Given the description of an element on the screen output the (x, y) to click on. 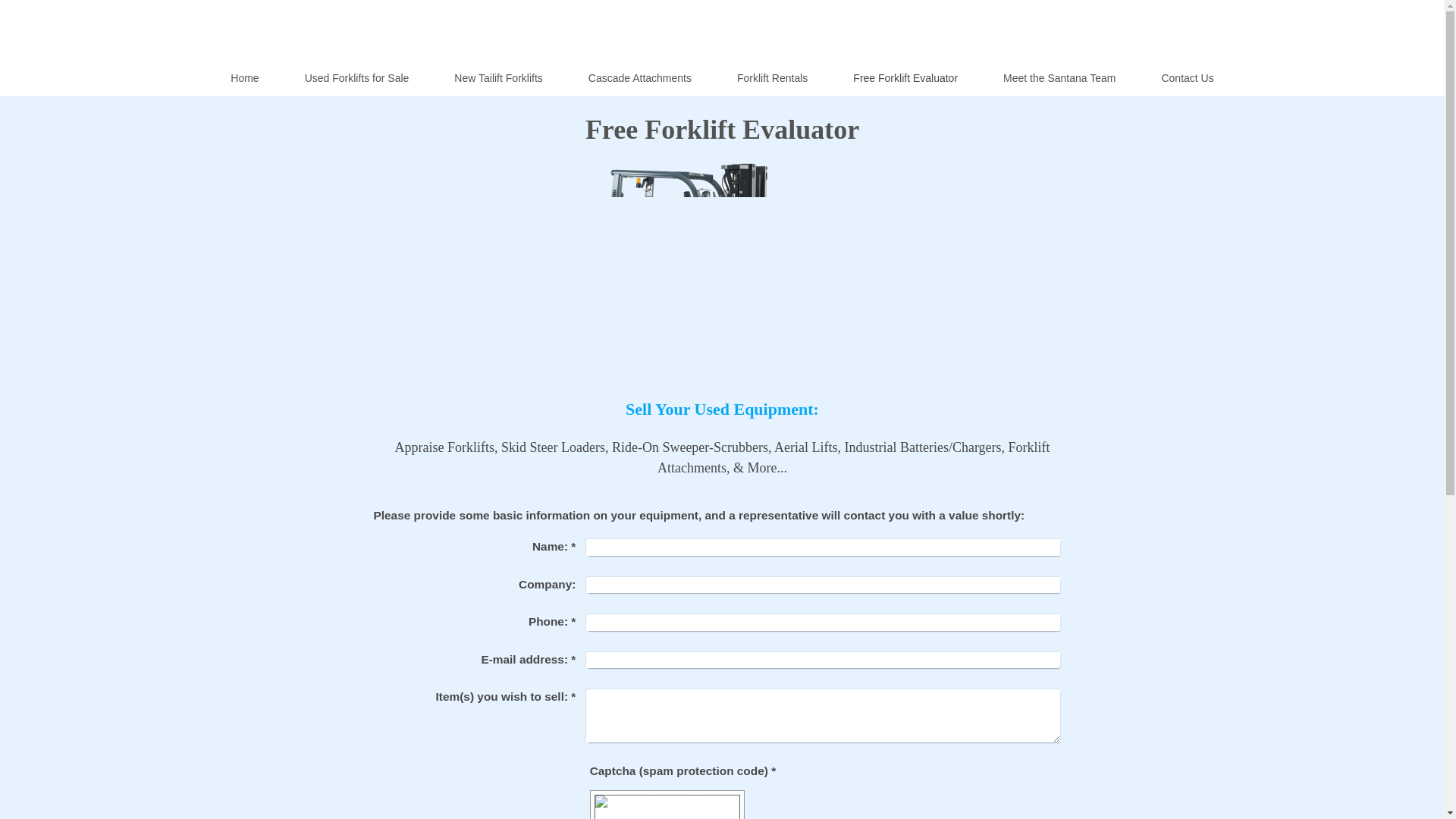
Used Forklifts for Sale (356, 77)
Free Forklift Evaluator (904, 77)
Home (244, 77)
Contact Us (1187, 77)
New Tailift Forklifts (497, 77)
Cascade Attachments (640, 77)
Forklift Rentals (772, 77)
Meet the Santana Team (1059, 77)
